Given the description of an element on the screen output the (x, y) to click on. 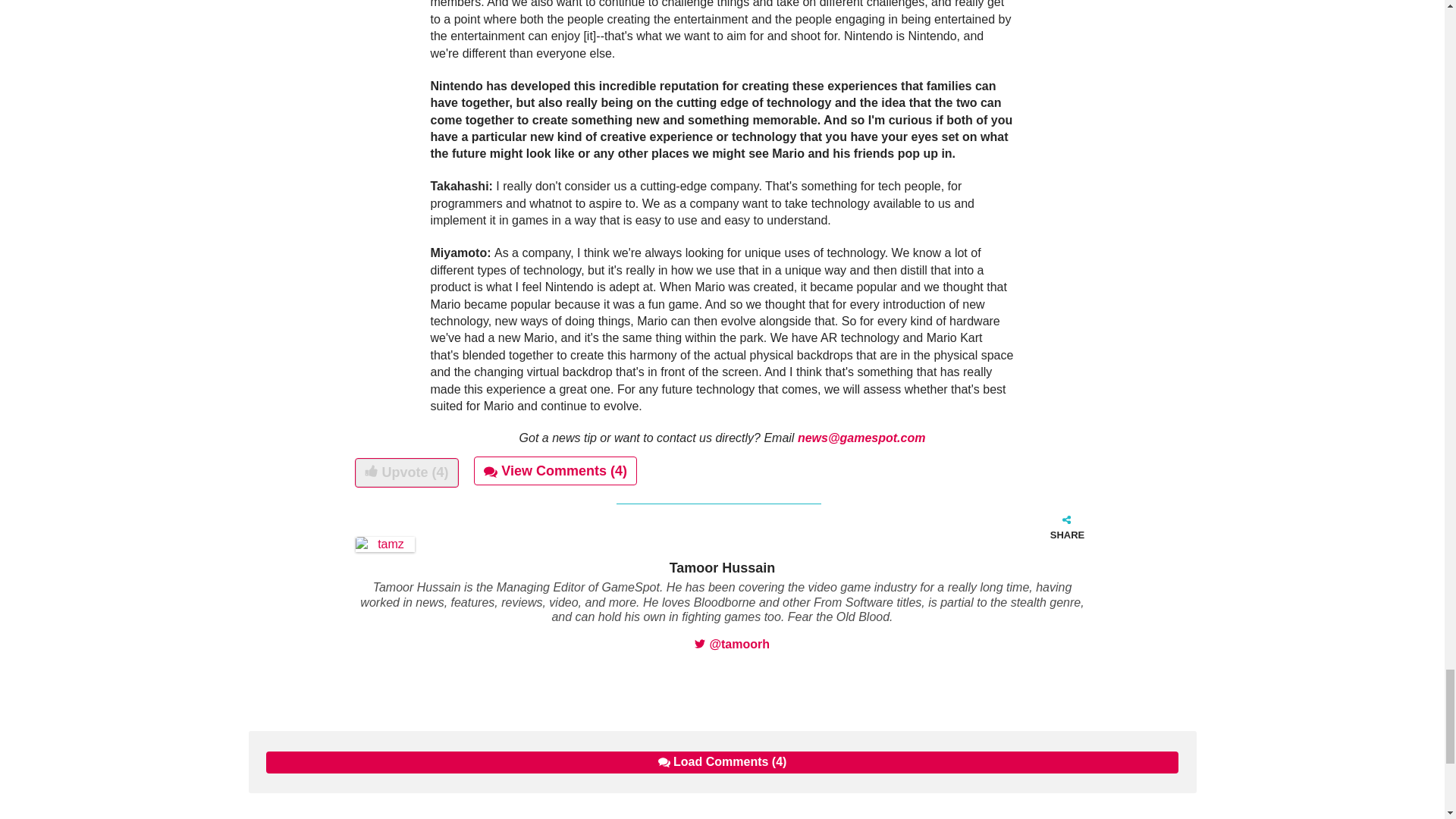
Follow this author on Twitter! (732, 644)
